Given the description of an element on the screen output the (x, y) to click on. 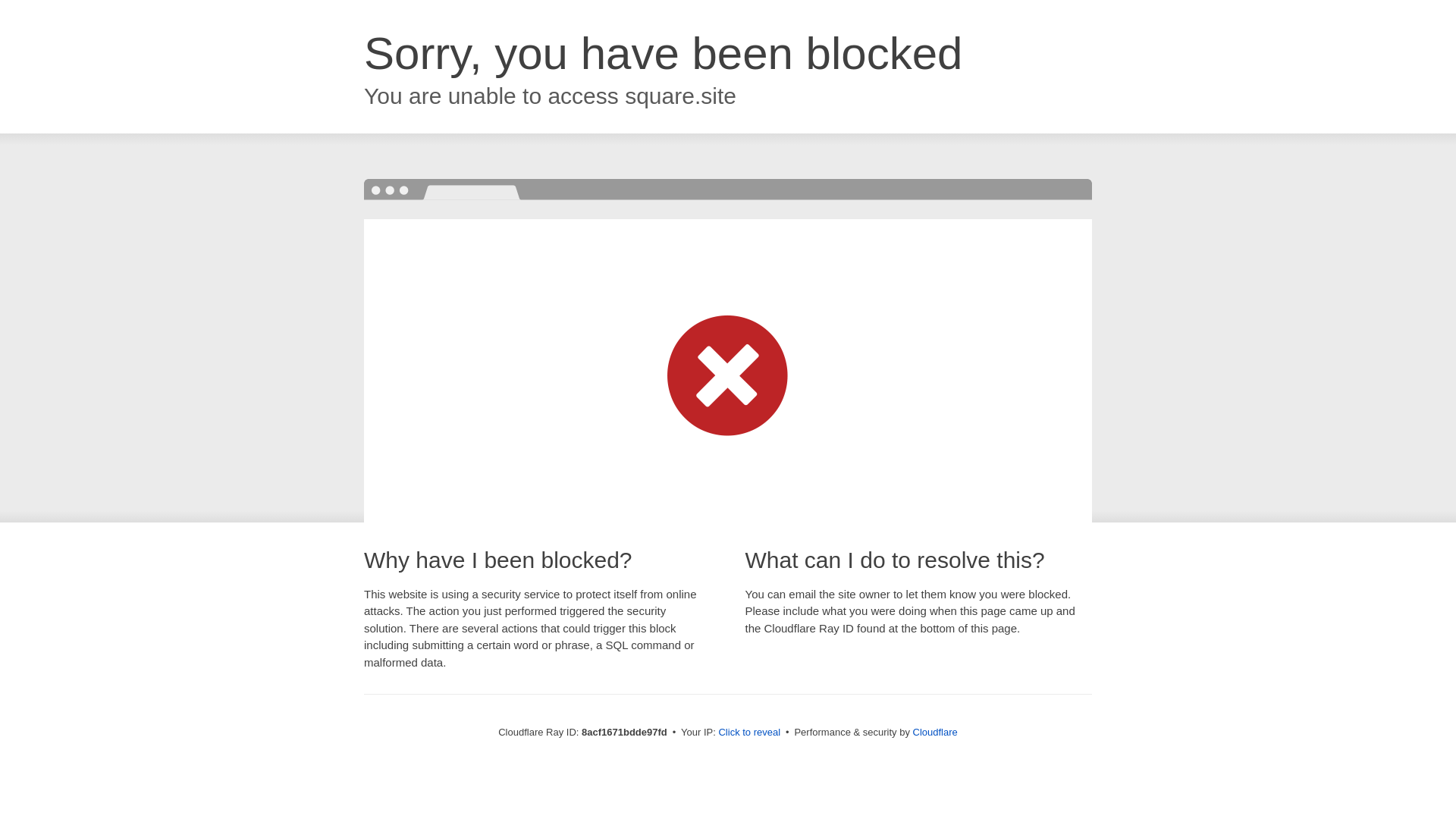
Cloudflare (935, 731)
Click to reveal (748, 732)
